Given the description of an element on the screen output the (x, y) to click on. 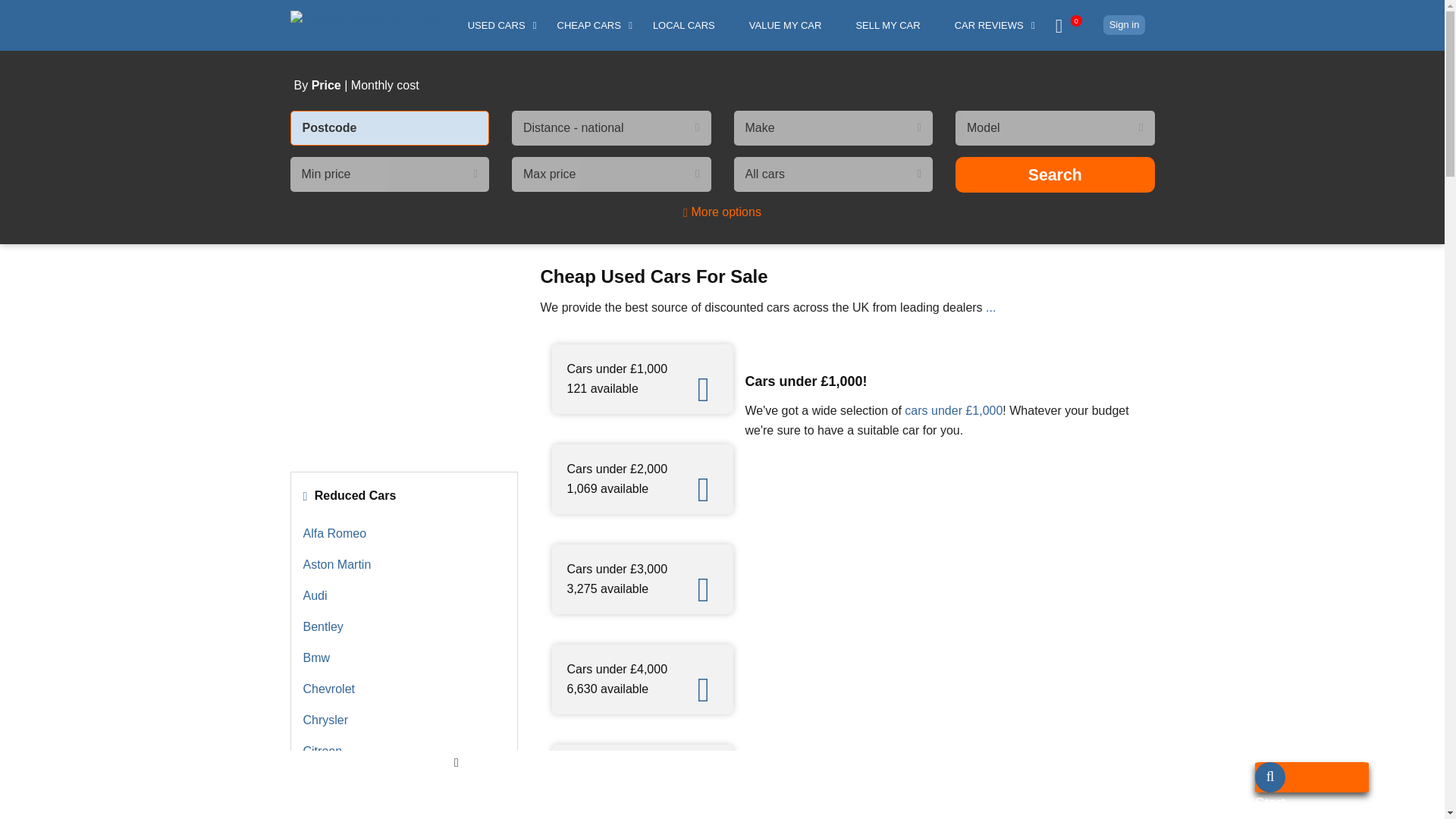
VALUE MY CAR (783, 25)
CHEAP CARS (585, 25)
CAR REVIEWS (986, 25)
Sign in (1124, 25)
LOCAL CARS (682, 25)
USED CARS (494, 25)
SELL MY CAR (885, 25)
More options (721, 211)
Monthly cost (384, 84)
0 (1069, 15)
